Given the description of an element on the screen output the (x, y) to click on. 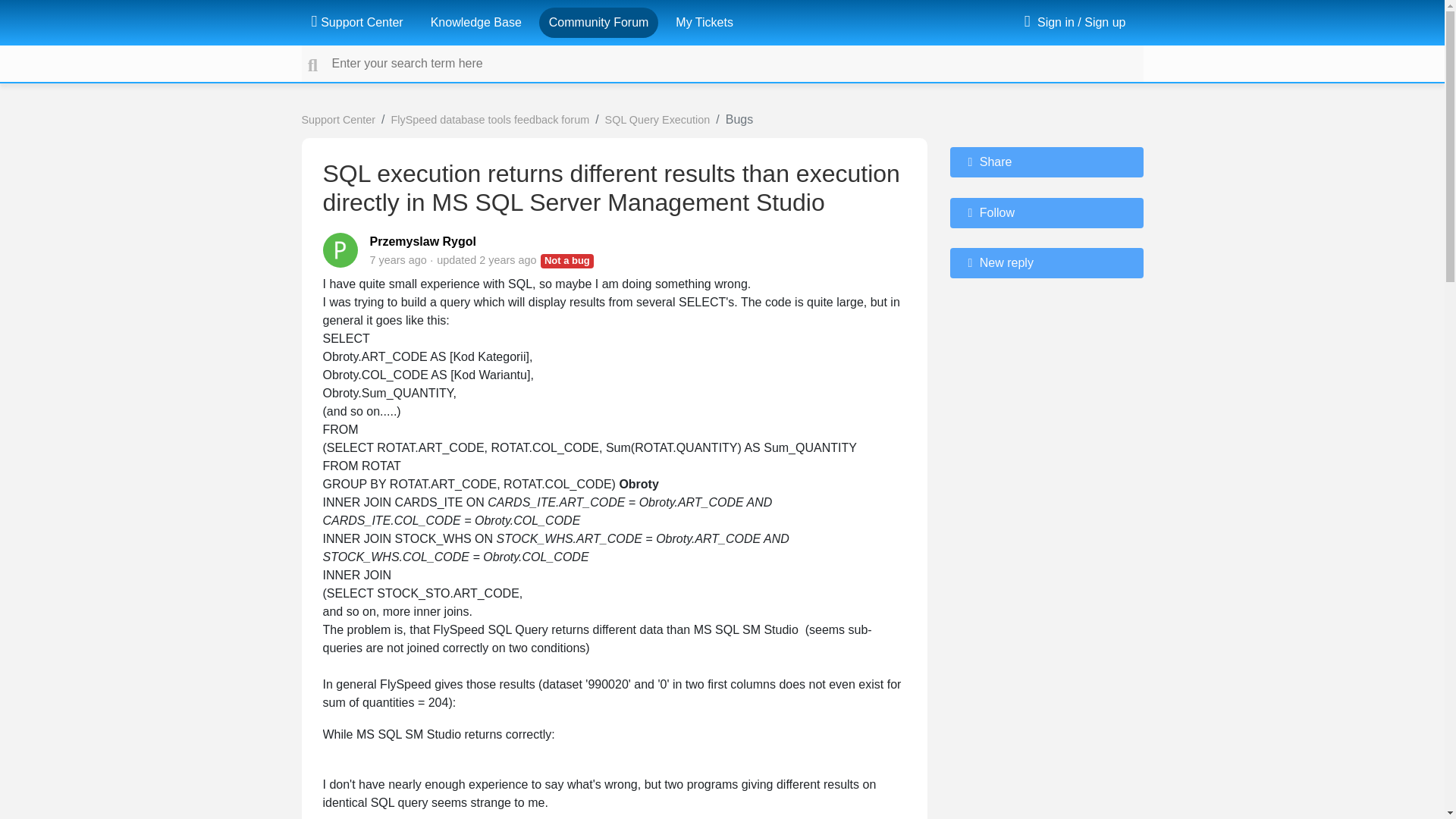
Community Forum (599, 22)
Follow (1045, 213)
Aug. 25, 2017 8:46 a.m. (397, 259)
Knowledge Base (476, 22)
Support Center (338, 119)
My Tickets (704, 22)
SQL Query Execution (657, 119)
Share (1045, 162)
Support Center (356, 22)
New reply (1045, 263)
June 16, 2022 11:38 a.m. (507, 259)
Przemyslaw Rygol (423, 241)
FlySpeed database tools feedback forum (490, 119)
